Given the description of an element on the screen output the (x, y) to click on. 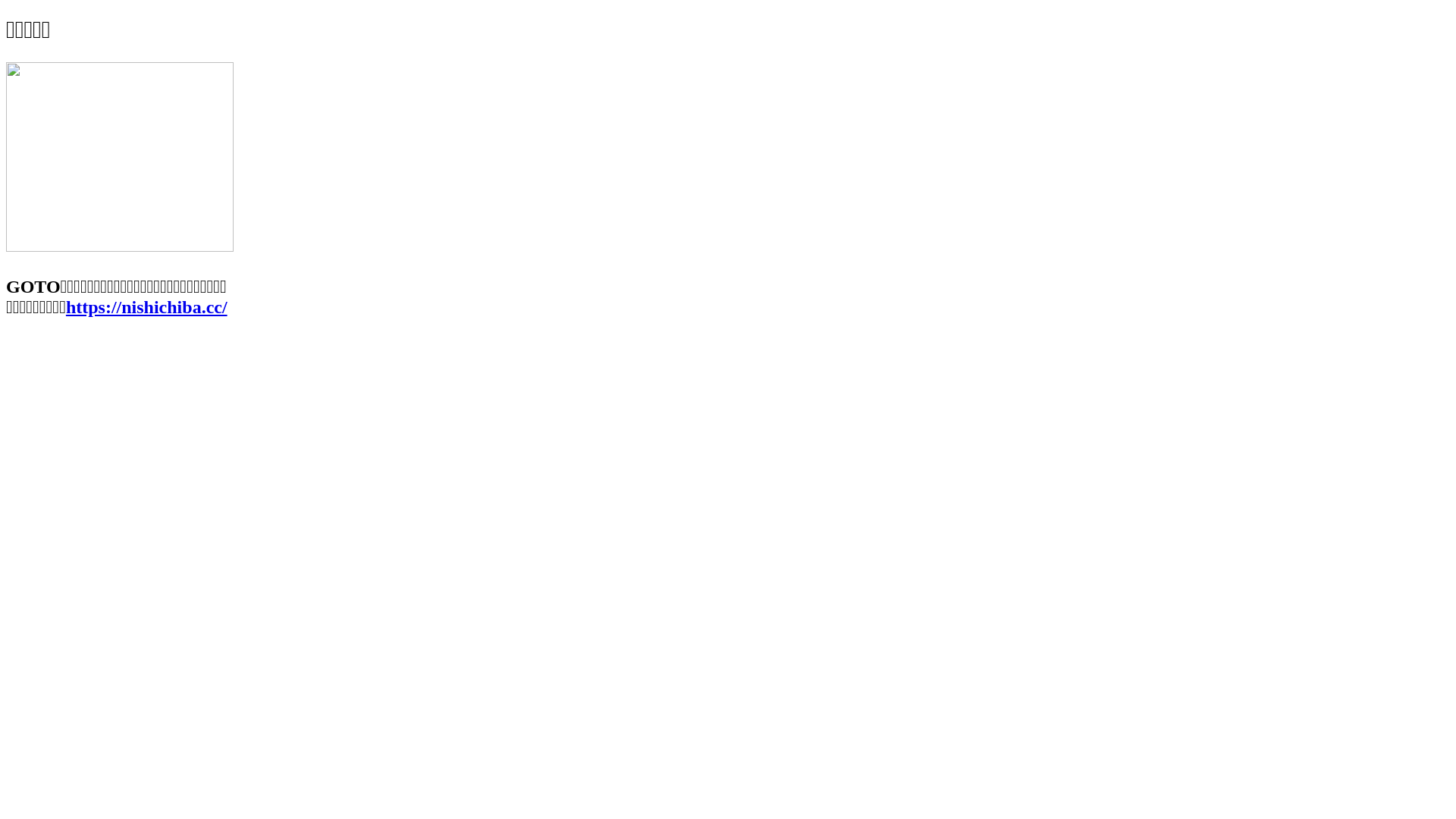
https://nishichiba.cc/ Element type: text (146, 306)
